Given the description of an element on the screen output the (x, y) to click on. 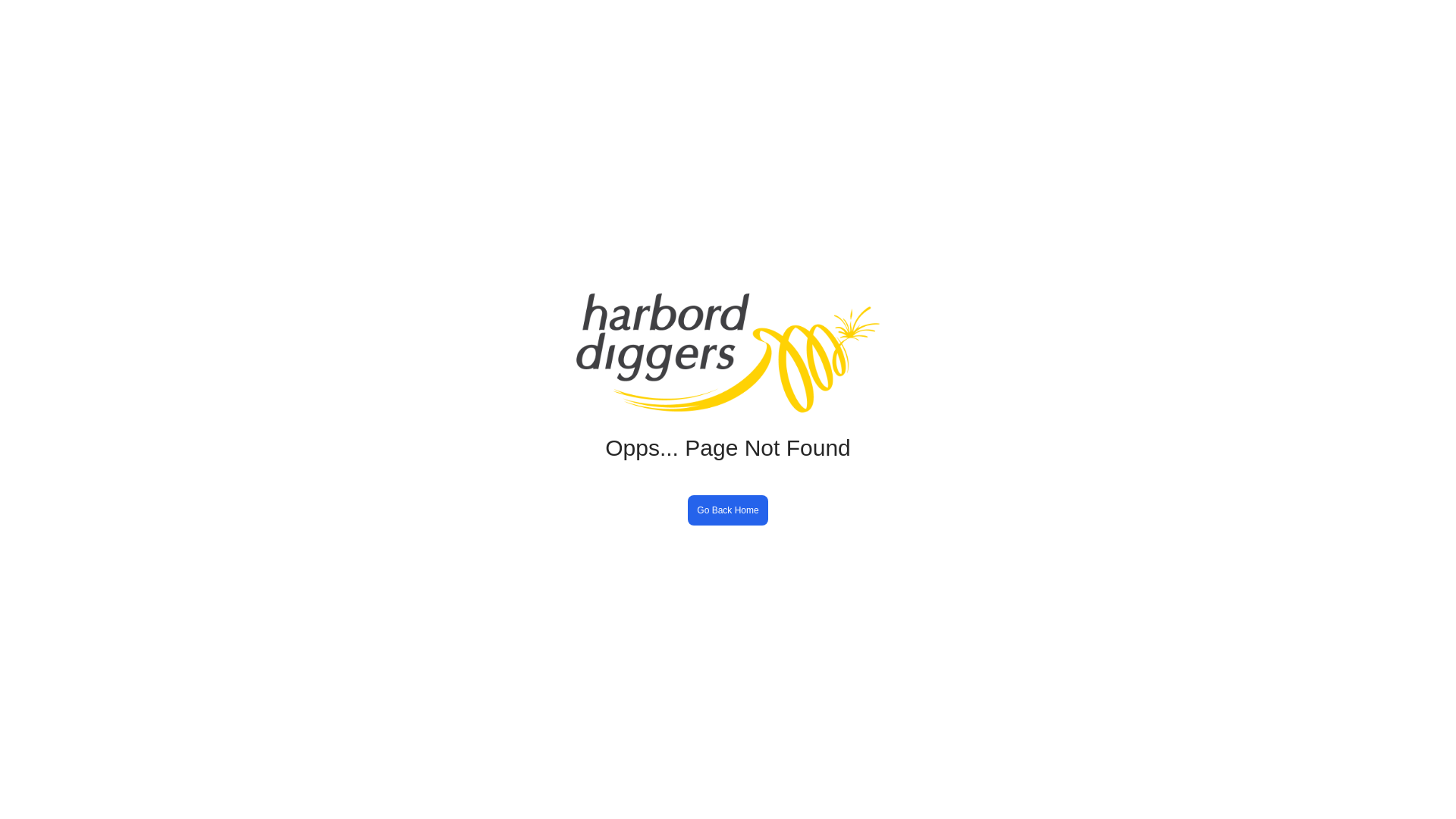
Go Back Home Element type: text (727, 510)
